Given the description of an element on the screen output the (x, y) to click on. 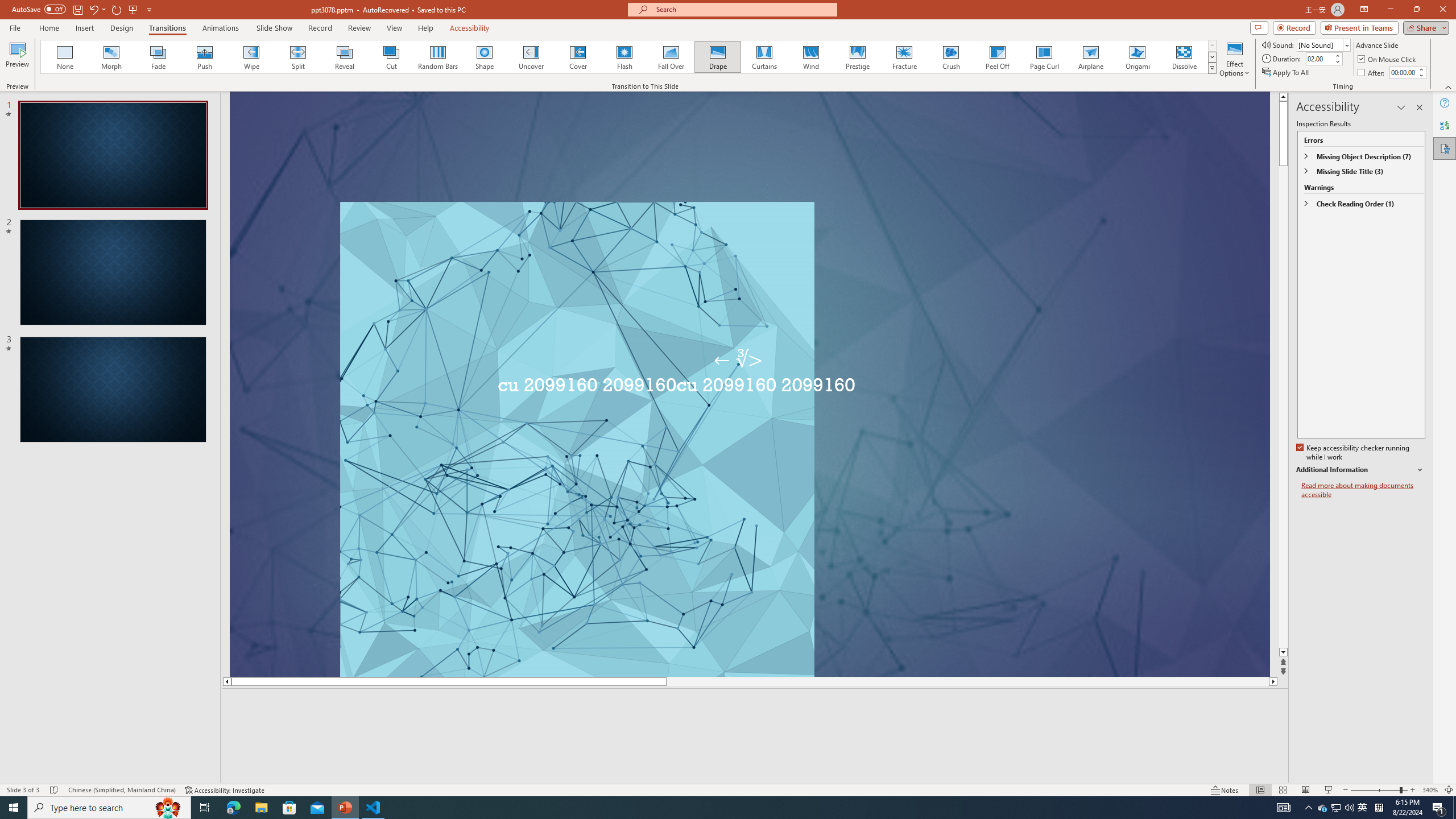
Flash (624, 56)
Fracture (903, 56)
Fall Over (670, 56)
Crush (950, 56)
Dissolve (1183, 56)
Drape (717, 56)
